Given the description of an element on the screen output the (x, y) to click on. 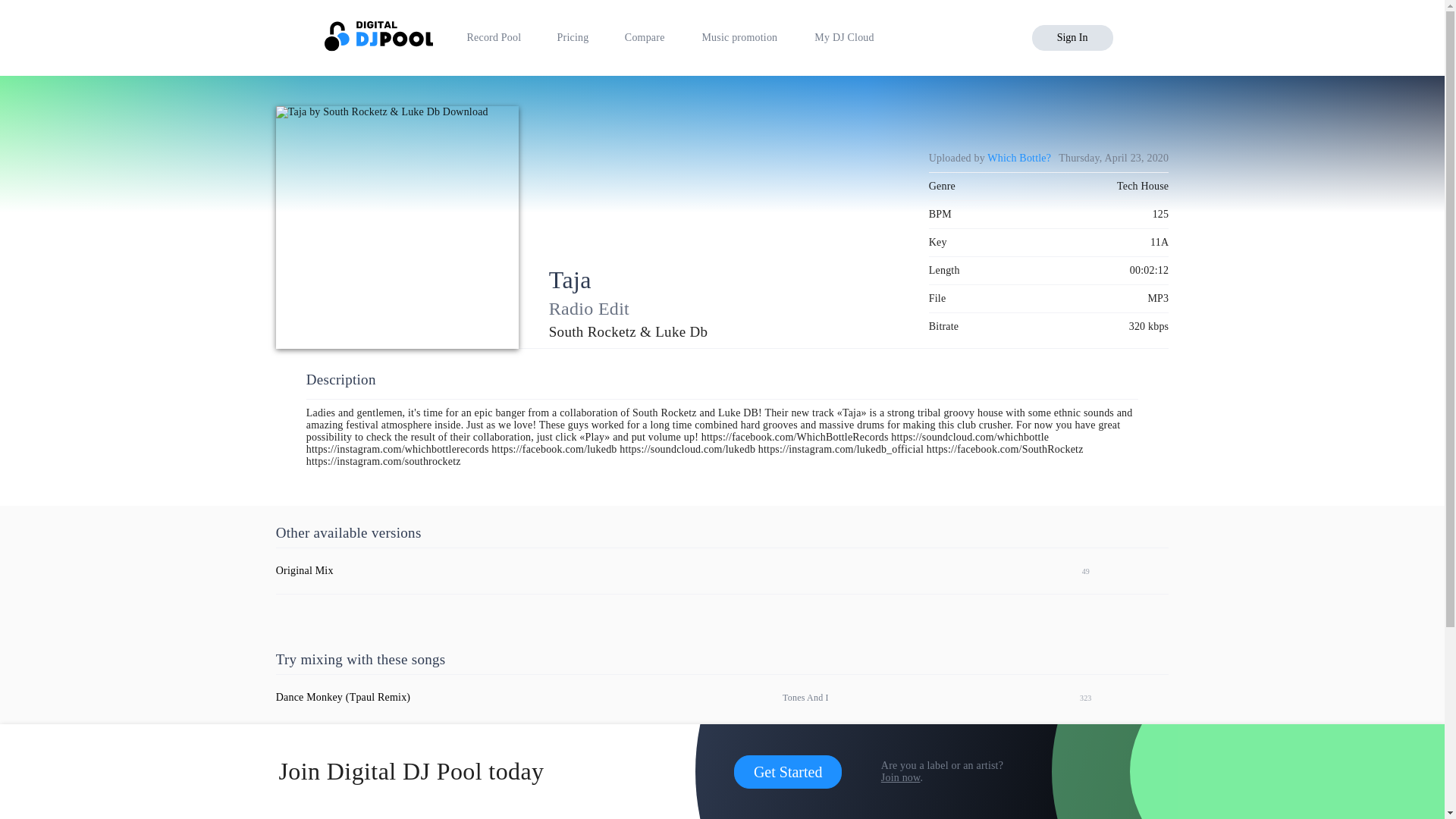
Compare (644, 37)
Get Started (788, 771)
Music promotion (738, 37)
323 (1077, 697)
Sign In (1072, 37)
Pricing (572, 37)
My DJ Cloud (844, 37)
Join now (900, 777)
Music promotion (738, 37)
My DJ Cloud (844, 37)
